Given the description of an element on the screen output the (x, y) to click on. 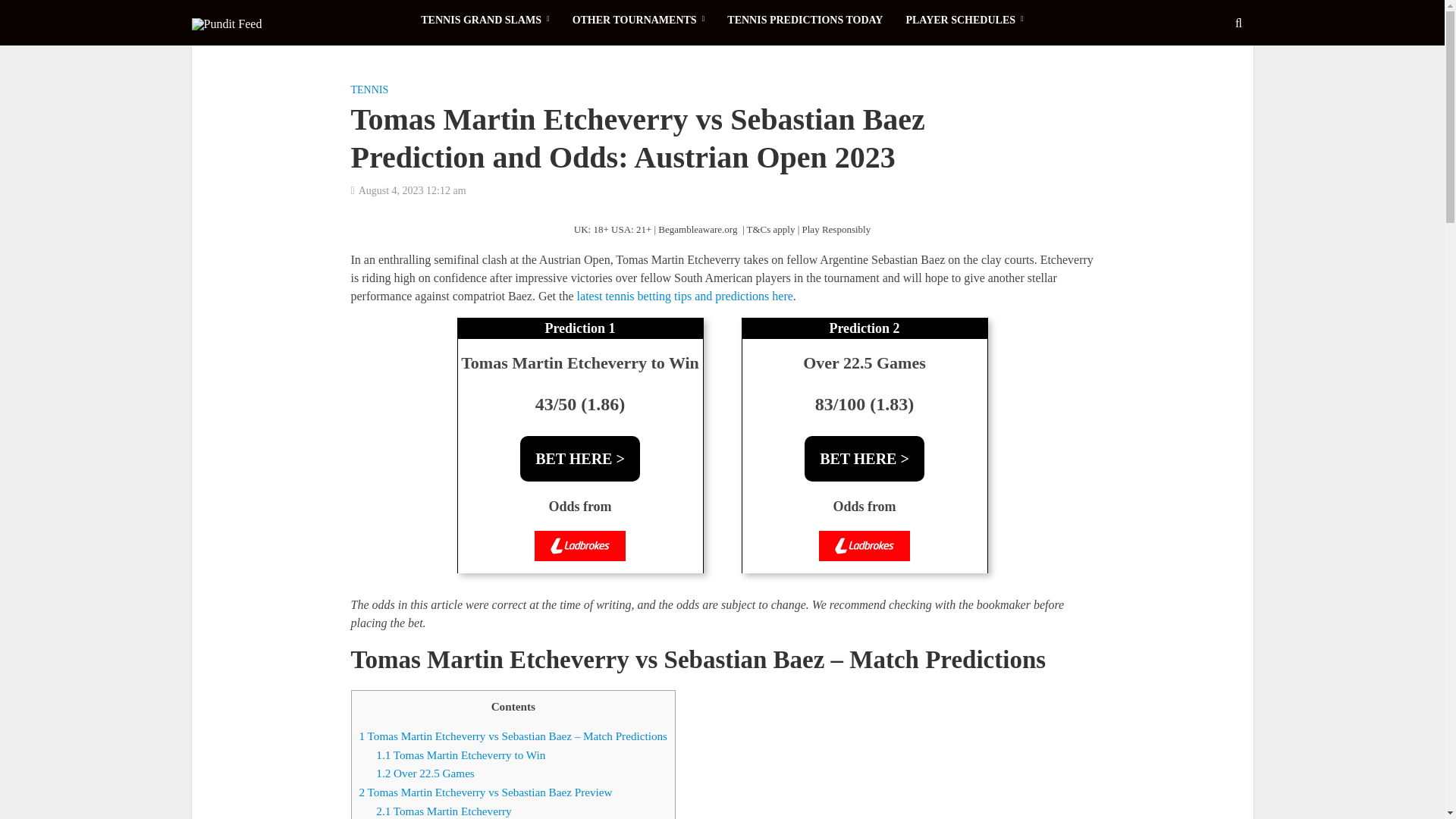
TENNIS GRAND SLAMS (484, 20)
TENNIS PREDICTIONS TODAY (804, 20)
TENNIS (369, 91)
OTHER TOURNAMENTS (638, 20)
PLAYER SCHEDULES (963, 20)
latest tennis betting tips and predictions here (684, 297)
